Given the description of an element on the screen output the (x, y) to click on. 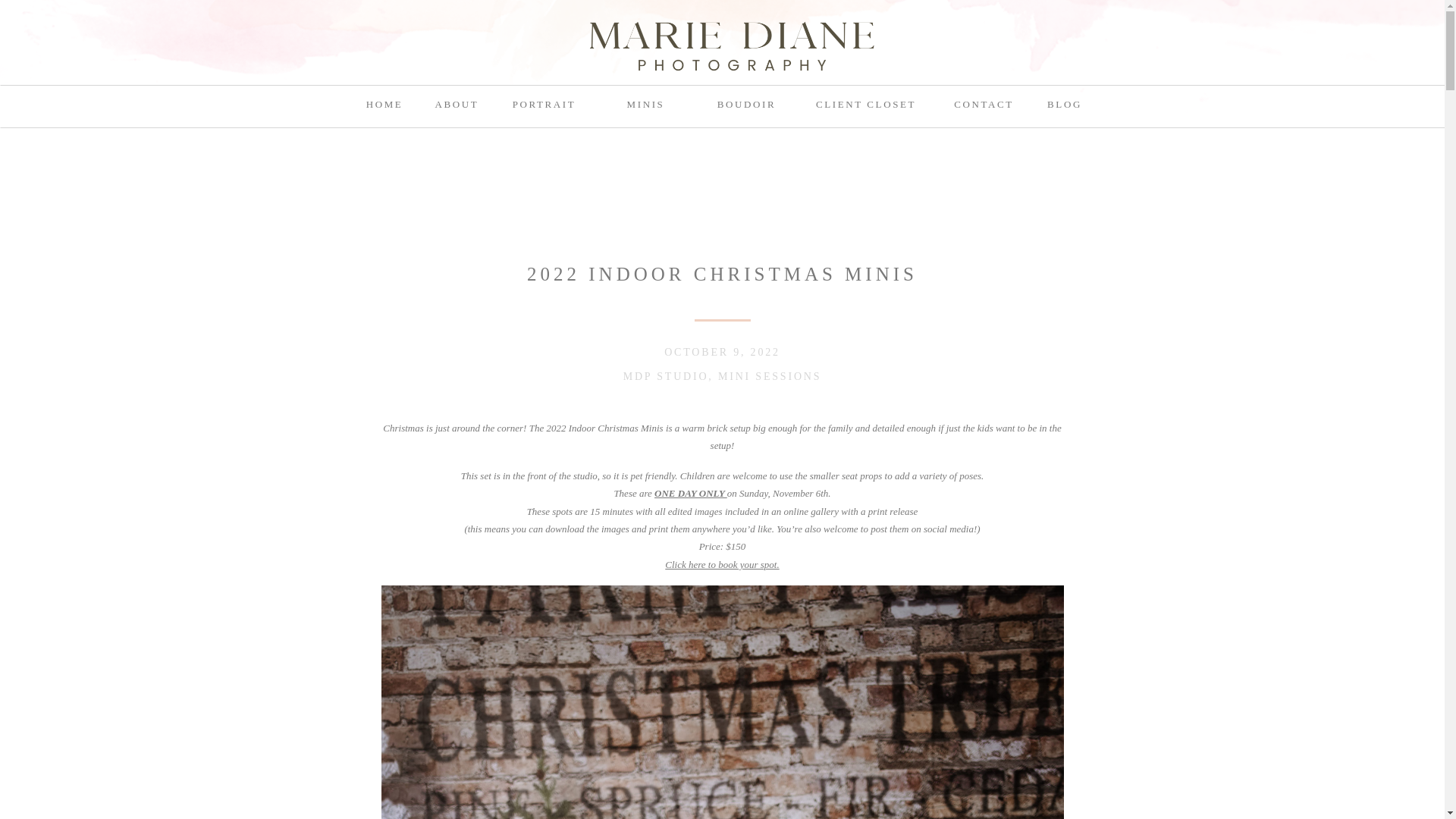
BOUDOIR (746, 103)
ABOUT (456, 103)
HOME (384, 103)
PORTRAIT (544, 103)
BLOG (1064, 103)
MDP STUDIO (666, 376)
MINI SESSIONS (769, 376)
Click here to book your spot. (721, 564)
CLIENT CLOSET (866, 103)
CONTACT (983, 103)
